Given the description of an element on the screen output the (x, y) to click on. 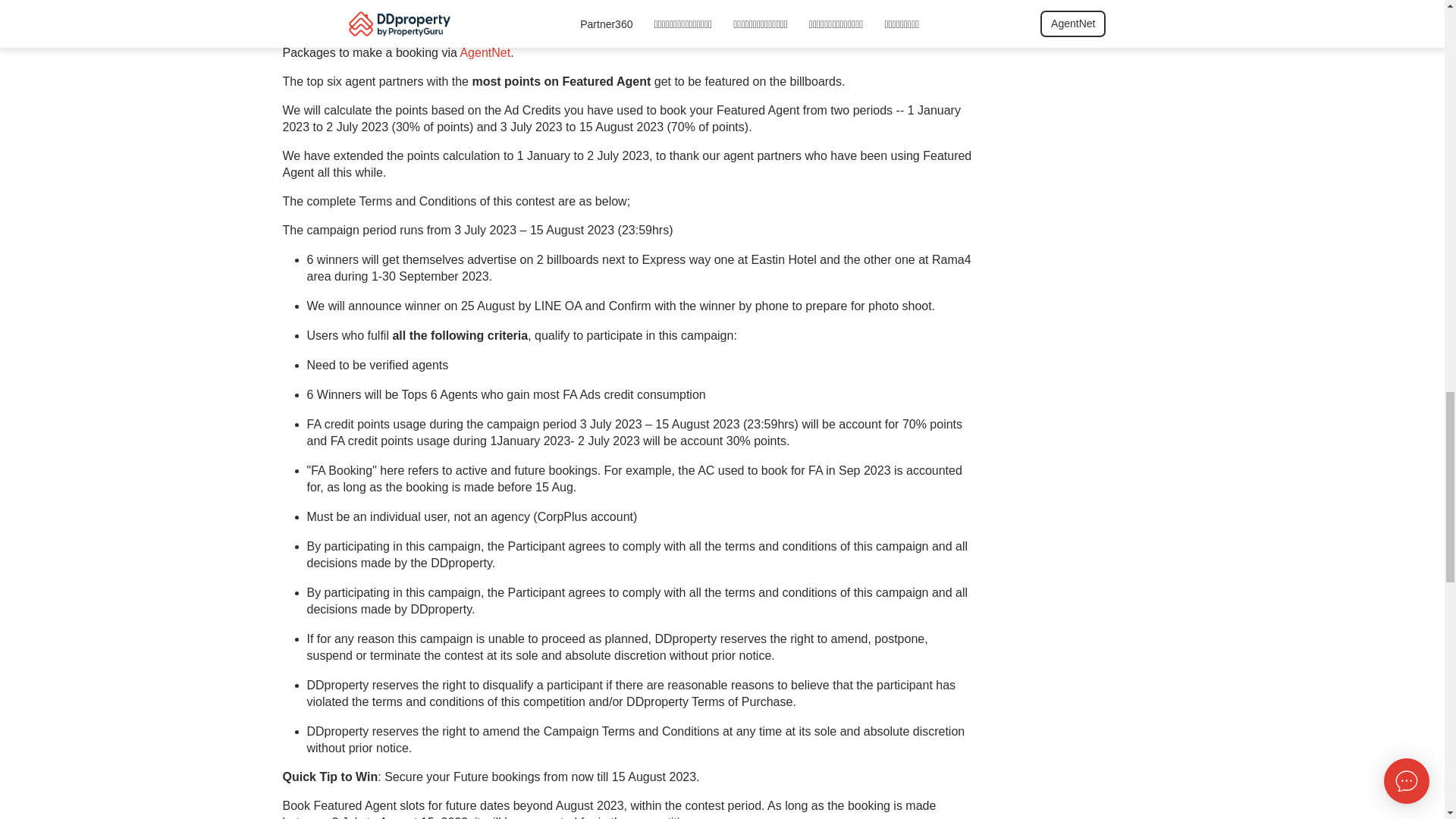
AgentNet (485, 58)
